Given the description of an element on the screen output the (x, y) to click on. 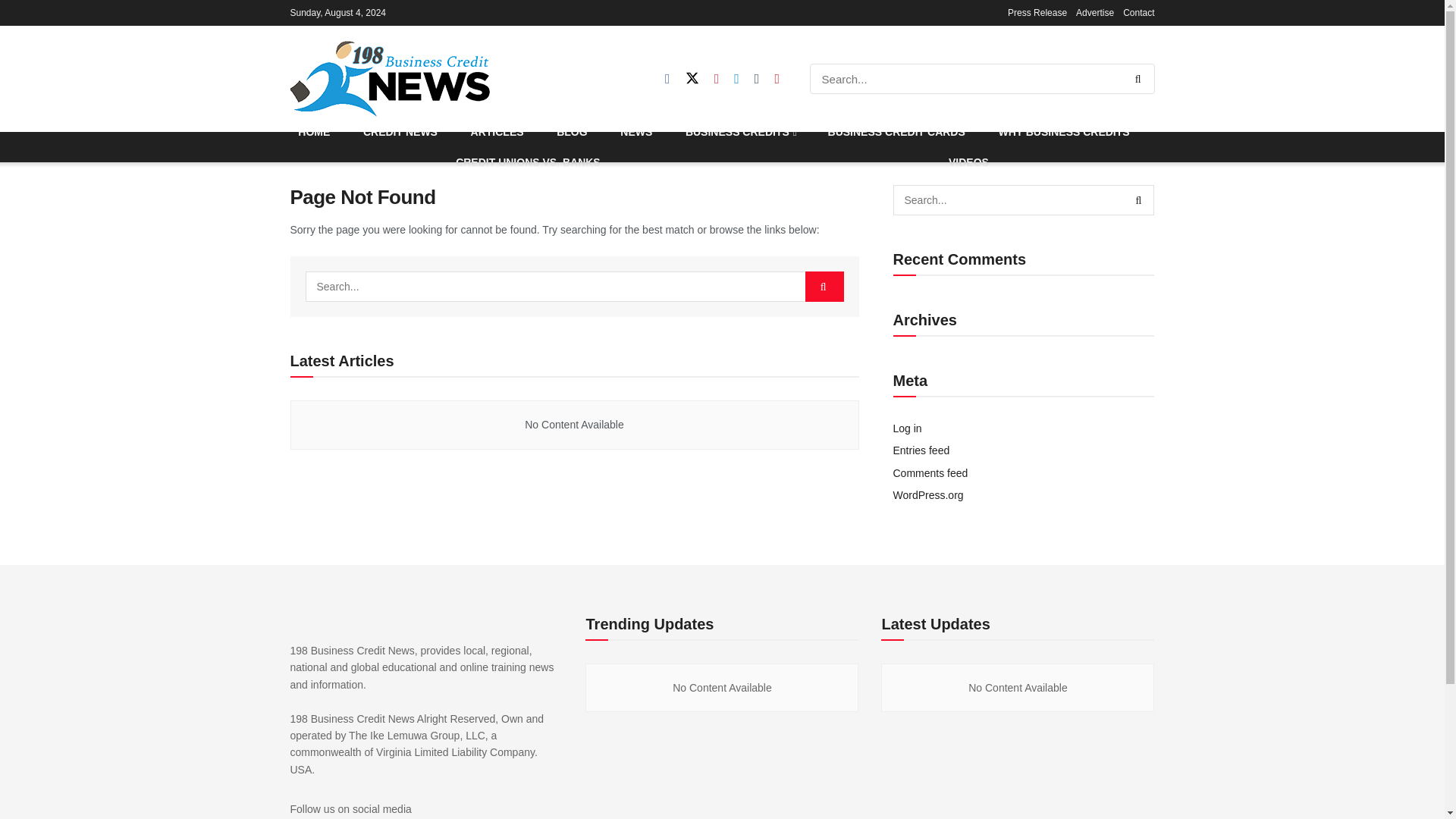
Advertise (1094, 12)
Log in (907, 428)
Comments feed (930, 472)
VIDEOS (968, 162)
BUSINESS CREDIT CARDS (896, 132)
HOME (313, 132)
Entries feed (921, 450)
ARTICLES (497, 132)
BUSINESS CREDITS (740, 132)
CREDIT UNIONS VS. BANKS (527, 162)
